Given the description of an element on the screen output the (x, y) to click on. 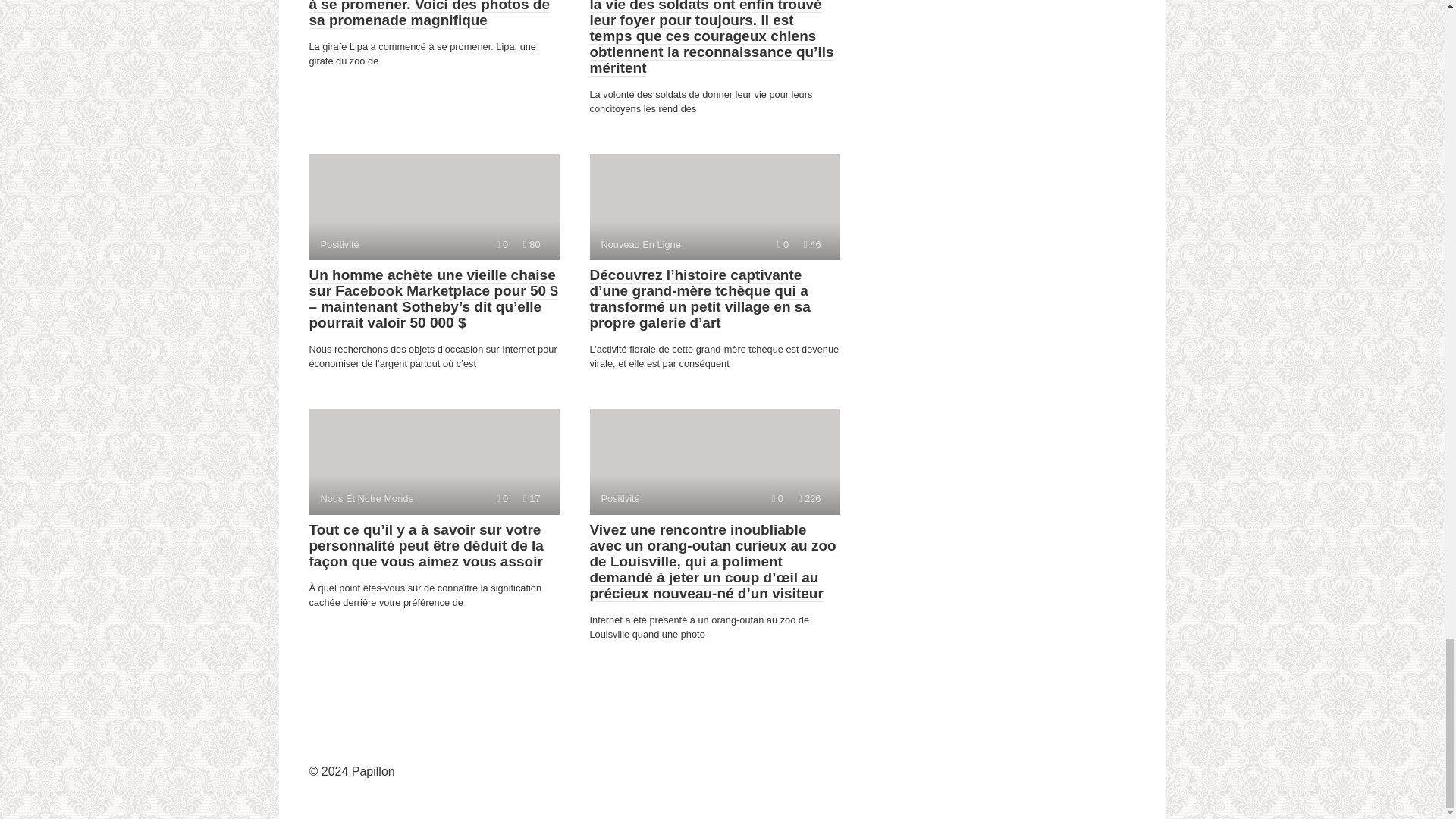
Views (714, 206)
Views (531, 243)
Views (531, 498)
Comments (812, 243)
Comments (502, 498)
Comments (502, 243)
Views (783, 243)
Comments (809, 498)
